Given the description of an element on the screen output the (x, y) to click on. 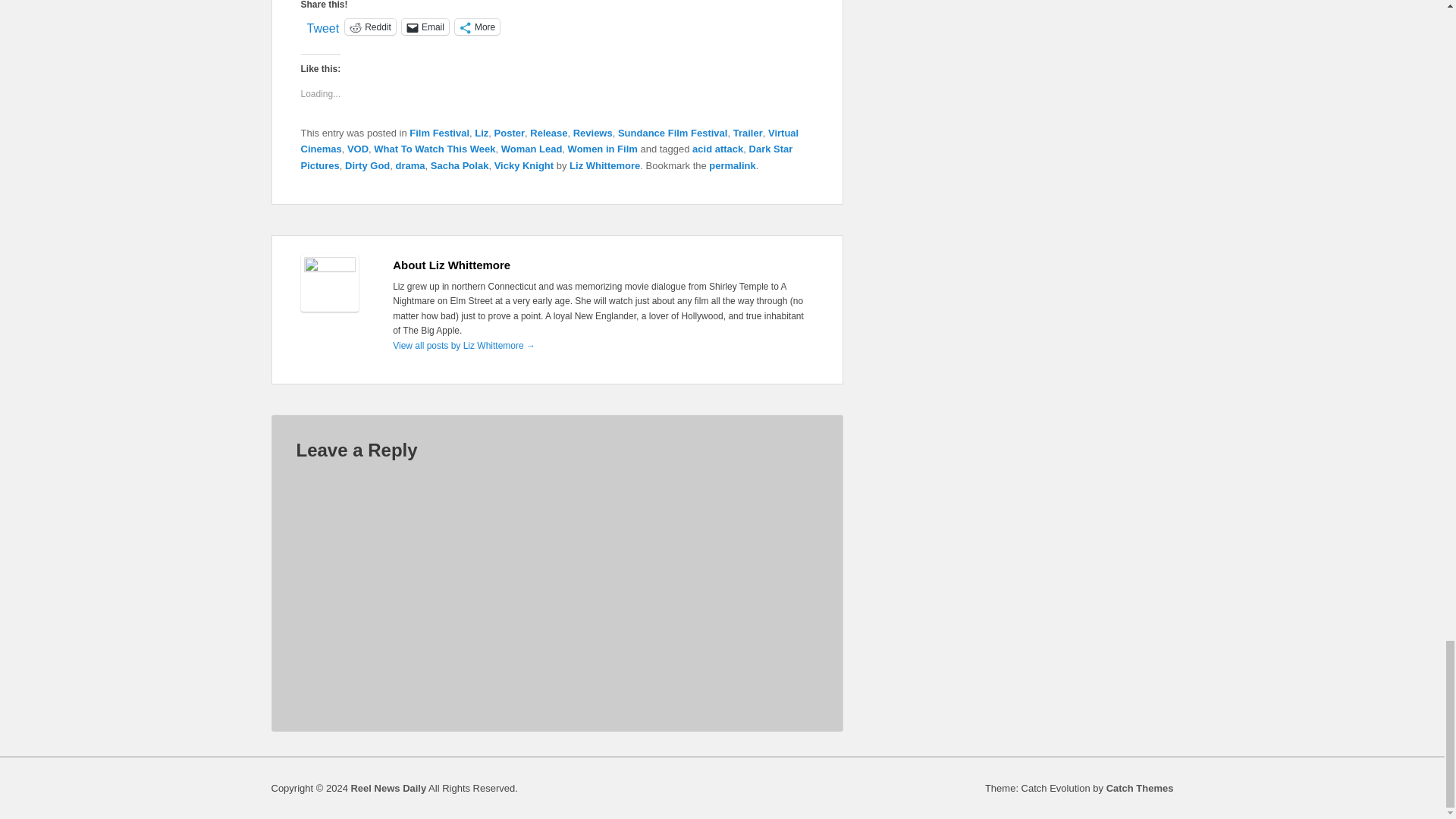
Poster (509, 132)
Trailer (747, 132)
Sundance Film Festival (672, 132)
More (476, 26)
Liz (480, 132)
Release (548, 132)
Virtual Cinemas (548, 140)
Reviews (592, 132)
Click to email a link to a friend (424, 26)
Reddit (370, 26)
Email (424, 26)
Click to share on Reddit (370, 26)
Tweet (322, 25)
Film Festival (438, 132)
